Given the description of an element on the screen output the (x, y) to click on. 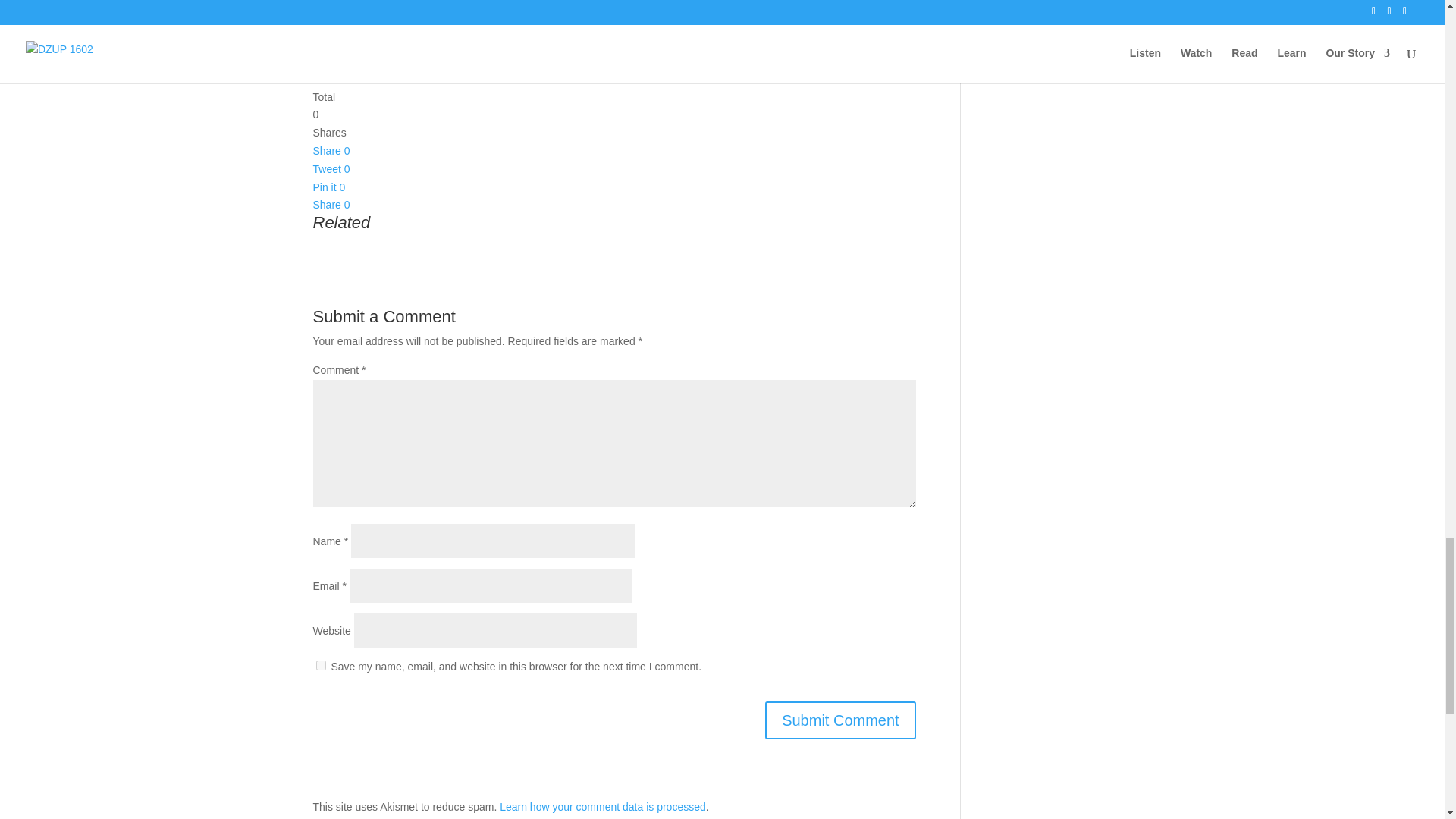
Submit Comment (840, 720)
Share 0 (331, 150)
yes (319, 665)
Share 0 (331, 204)
Submit Comment (840, 720)
Learn how your comment data is processed (602, 806)
Pin it 0 (329, 186)
Tweet 0 (331, 168)
